Given the description of an element on the screen output the (x, y) to click on. 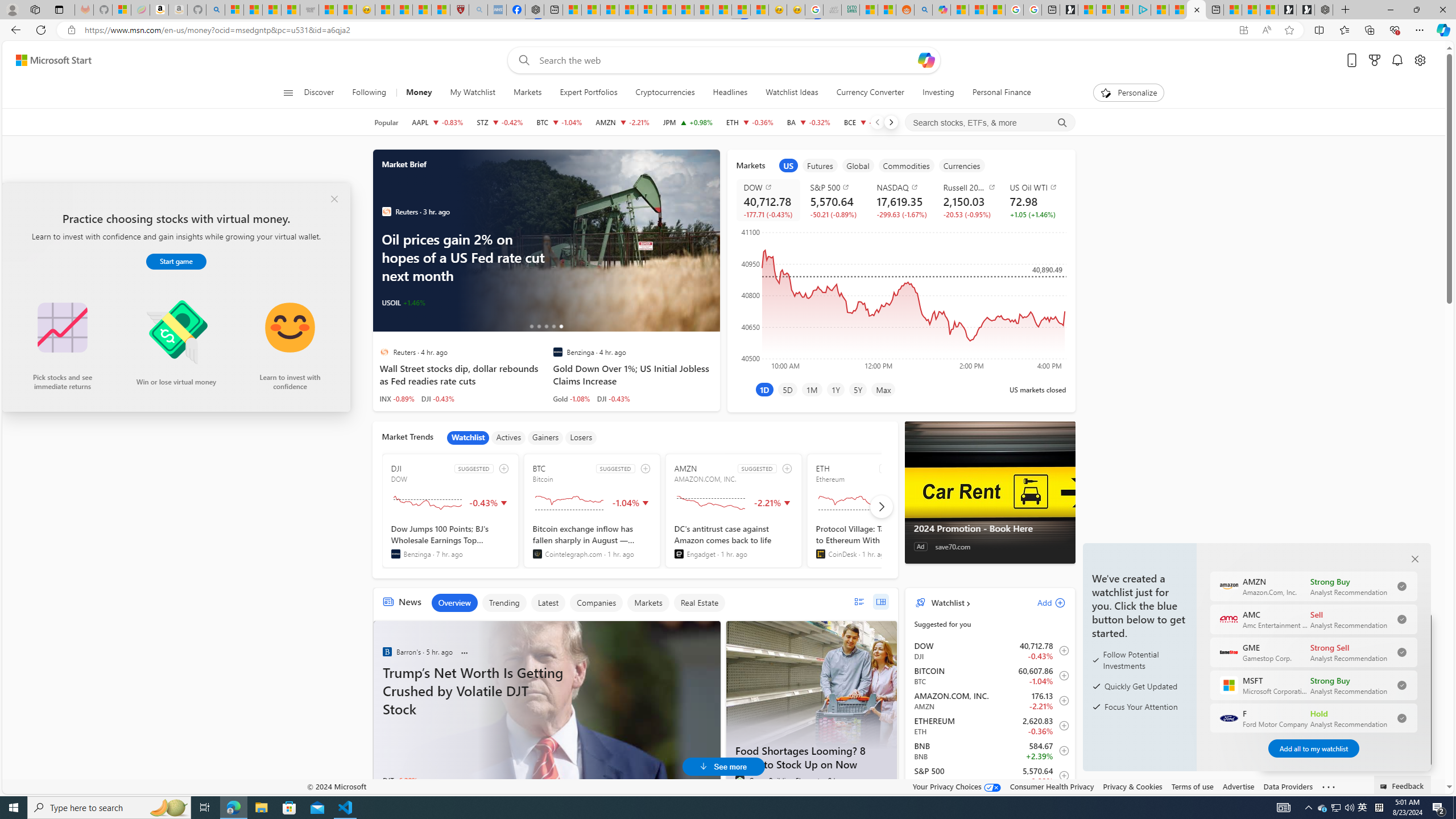
AAPL APPLE INC. decrease 224.53 -1.87 -0.83% (437, 122)
Split screen (1318, 29)
Add this page to favorites (Ctrl+D) (1289, 29)
Microsoft Copilot in Bing (941, 9)
Headlines (730, 92)
Overview (453, 602)
Personalize (1128, 92)
Combat Siege (309, 9)
Microsoft Start Gaming (1069, 9)
Real Estate (698, 602)
close popup (333, 199)
